Given the description of an element on the screen output the (x, y) to click on. 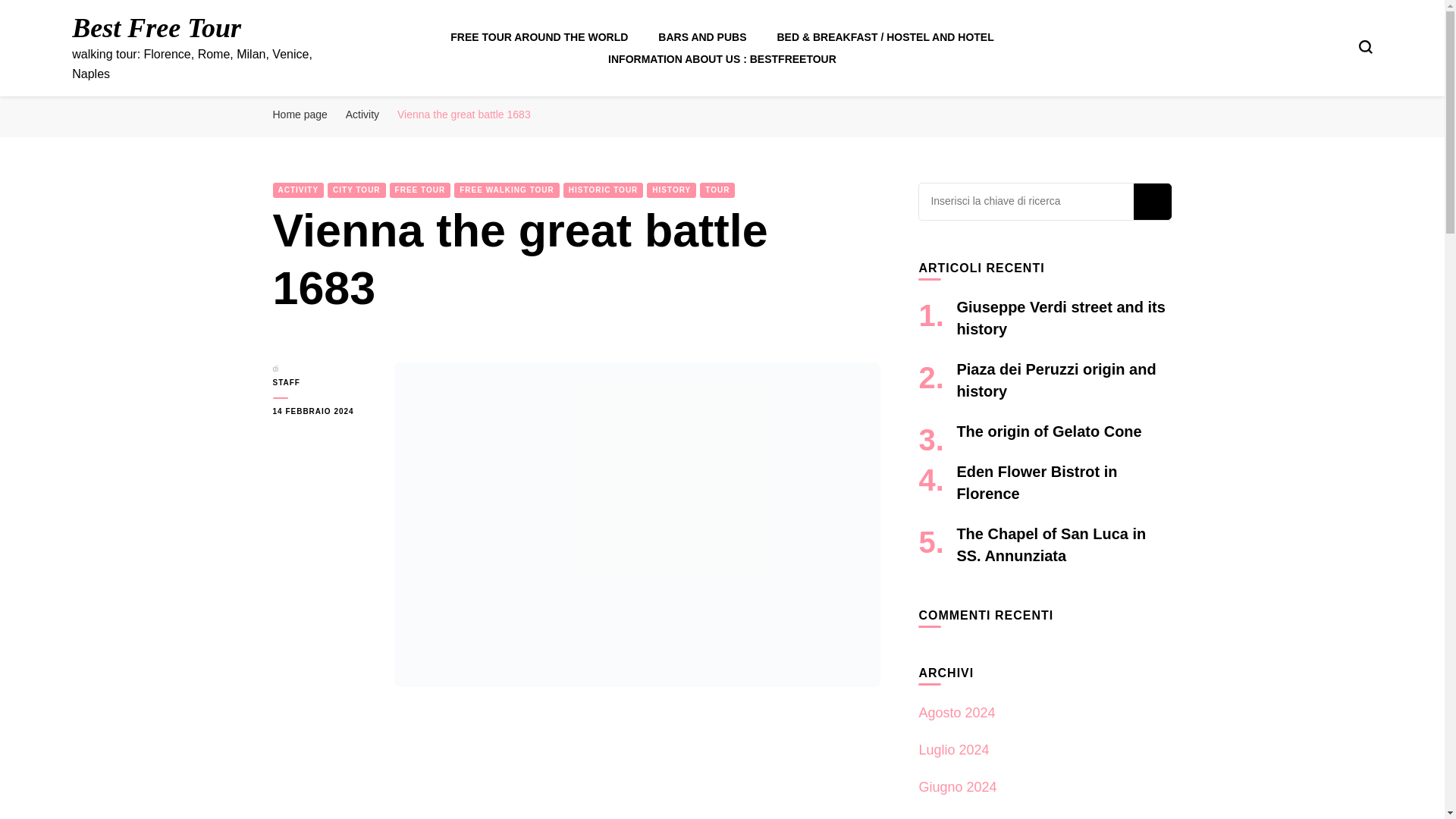
14 FEBBRAIO 2024 (322, 411)
Eden Flower Bistrot in Florence (1036, 482)
Cerca (1151, 201)
FREE TOUR AROUND THE WORLD (538, 37)
CITY TOUR (356, 190)
INFORMATION ABOUT US : BESTFREETOUR (721, 59)
Cerca (1151, 201)
Activity (362, 114)
HISTORY (670, 190)
ACTIVITY (298, 190)
